Given the description of an element on the screen output the (x, y) to click on. 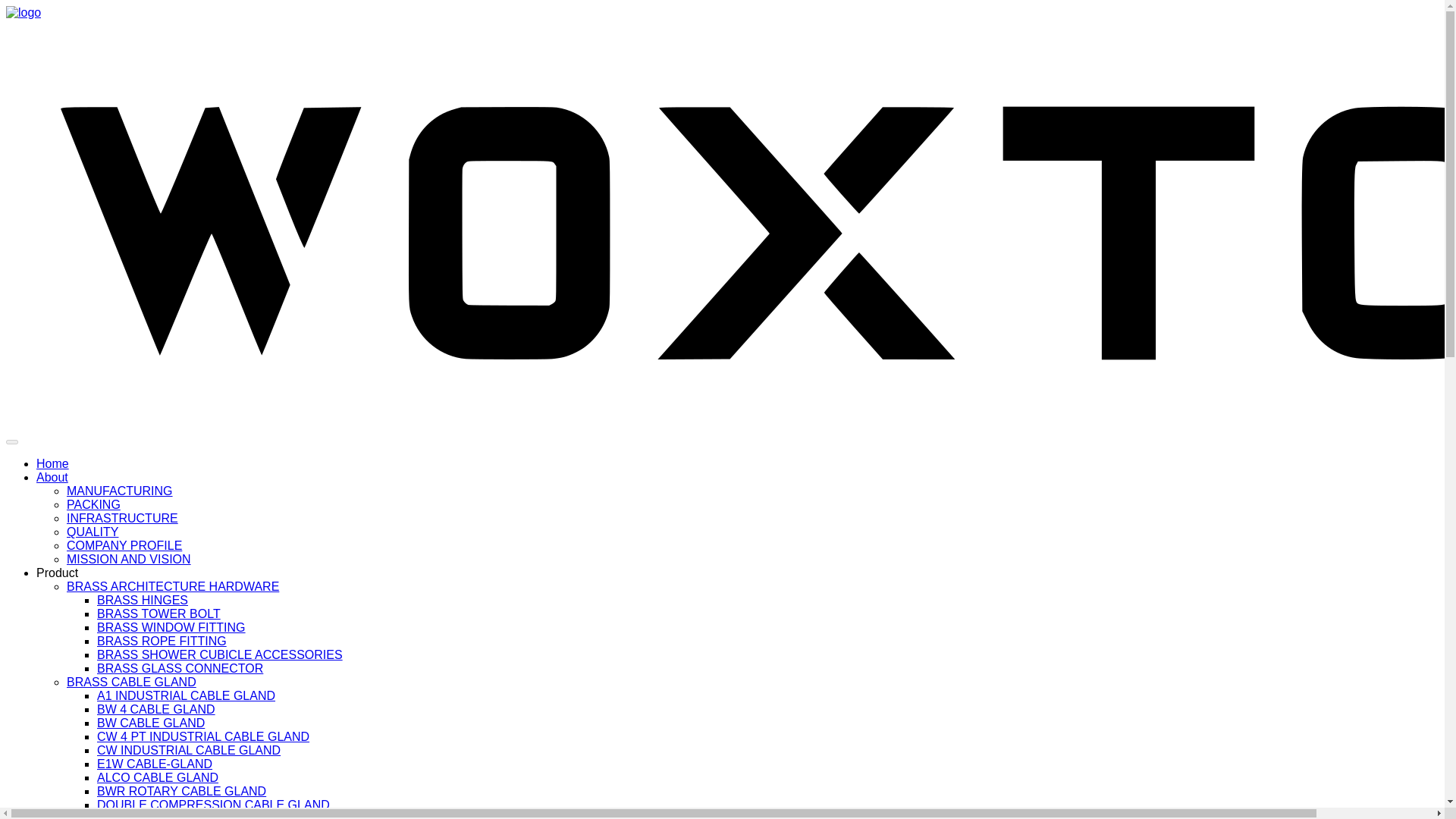
DOUBLE COMPRESSION CABLE GLAND (213, 804)
BRASS WINDOW FITTING (171, 626)
SINGLE COMPRESSION CABLE GLAND (210, 815)
BWR ROTARY CABLE GLAND (181, 790)
BW 4 CABLE GLAND (156, 708)
BRASS ARCHITECTURE HARDWARE (172, 585)
MANUFACTURING (119, 490)
BRASS CABLE GLAND (131, 681)
CW 4 PT INDUSTRIAL CABLE GLAND (202, 736)
Home (52, 463)
ALCO CABLE GLAND (157, 777)
PACKING (93, 504)
BRASS ROPE FITTING (162, 640)
E1W CABLE-GLAND (154, 763)
About (52, 477)
